Given the description of an element on the screen output the (x, y) to click on. 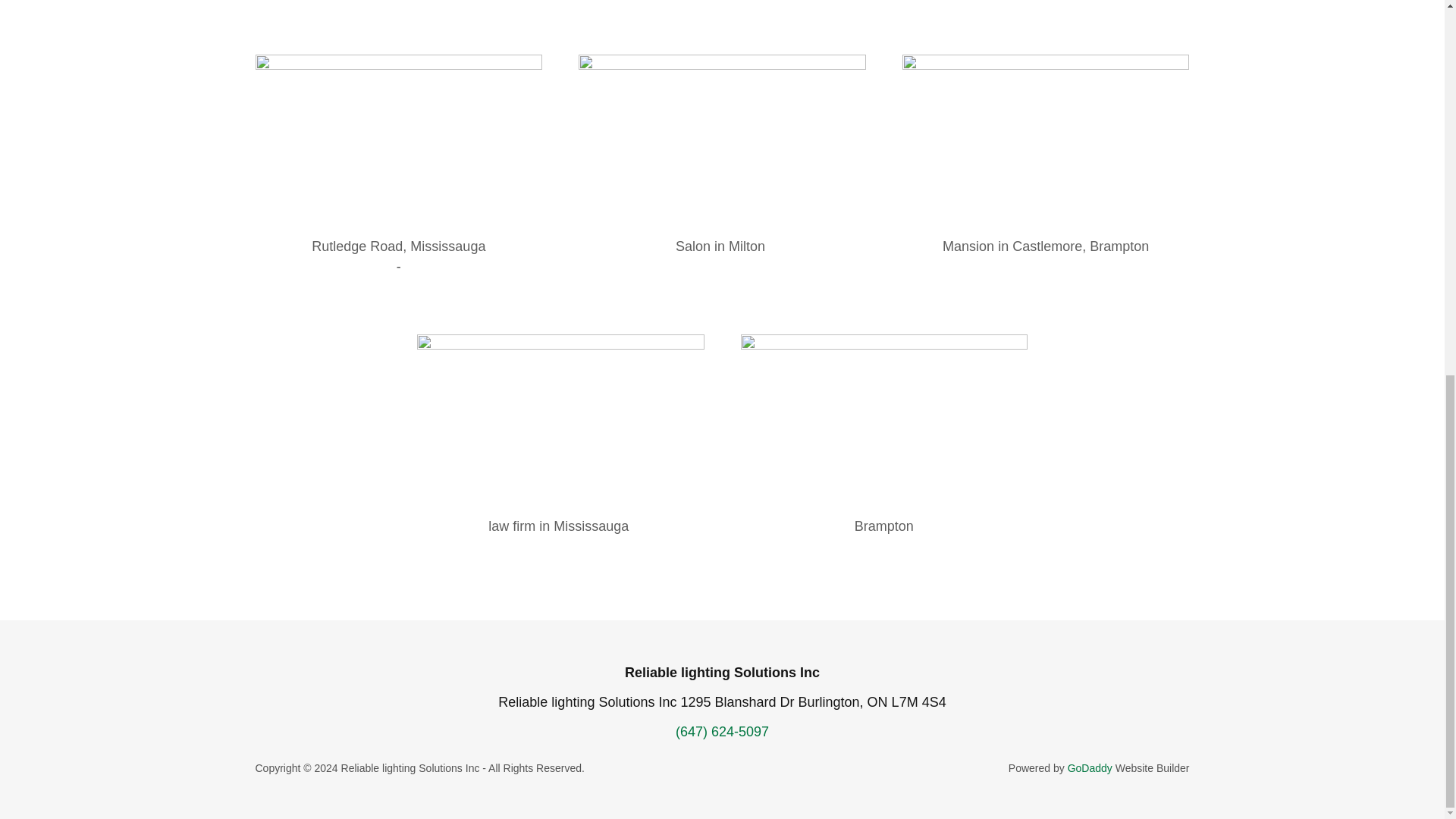
Accept (1274, 452)
GoDaddy (1089, 767)
